Given the description of an element on the screen output the (x, y) to click on. 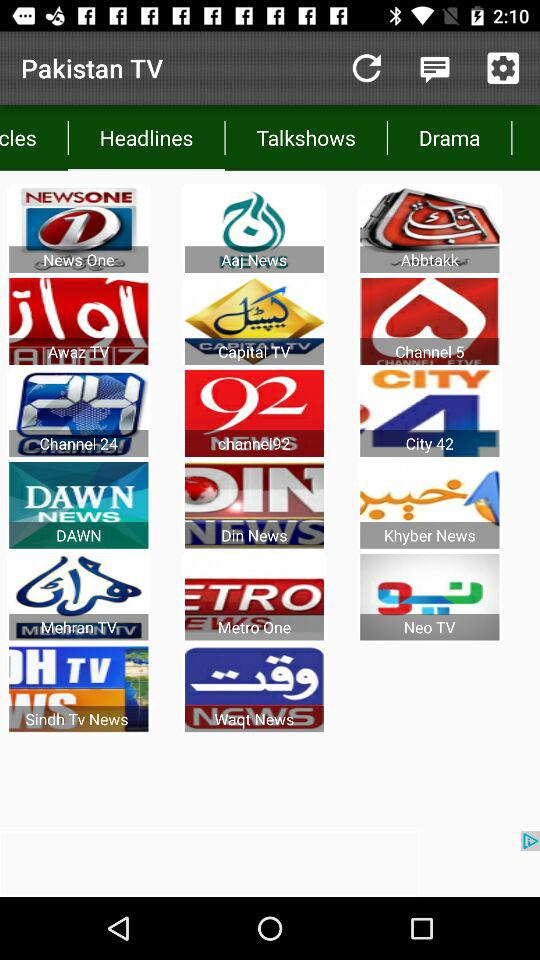
turn off app next to morningshows app (449, 137)
